Given the description of an element on the screen output the (x, y) to click on. 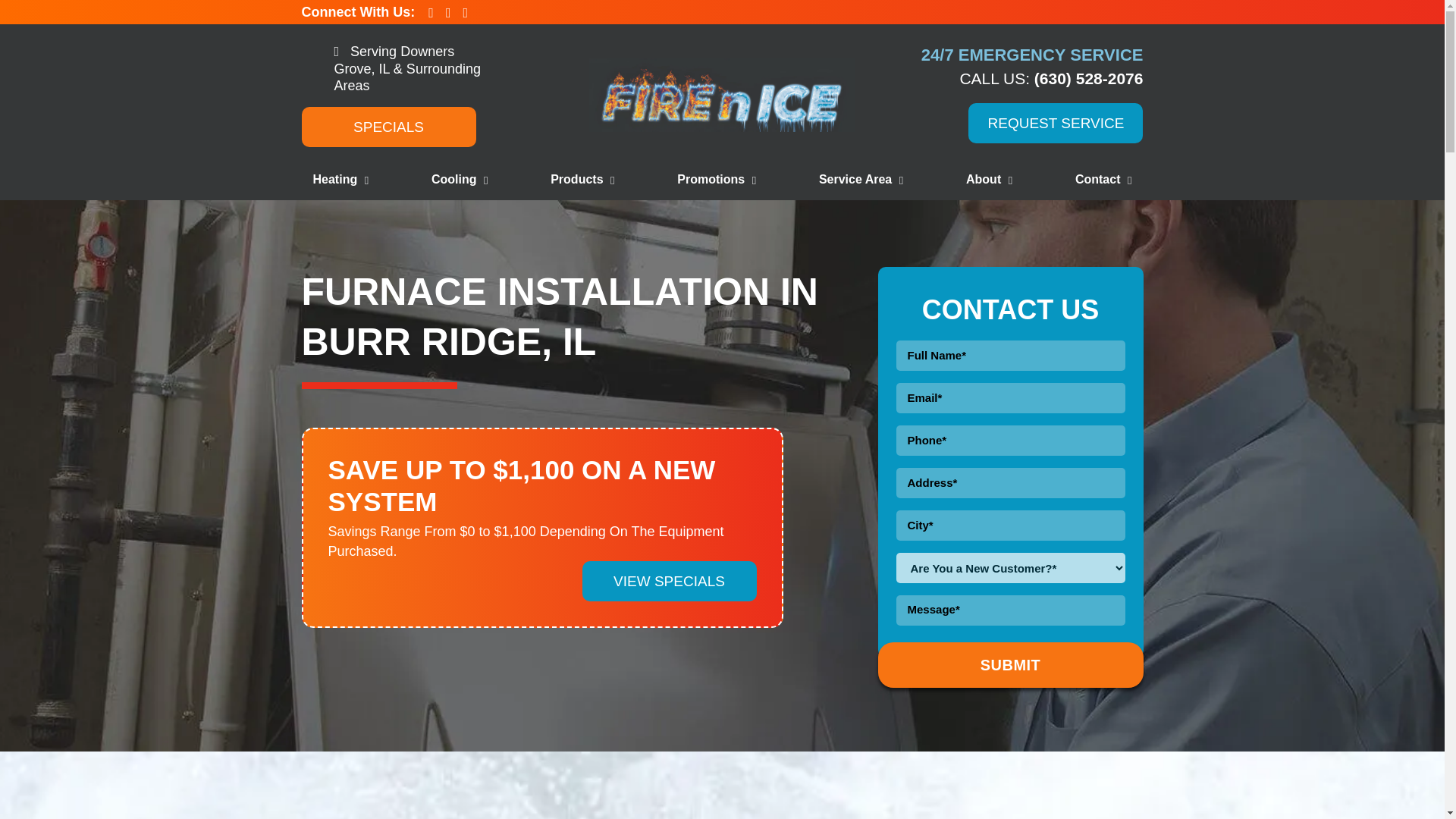
Cooling (459, 178)
Submit (1009, 664)
Service Area (861, 178)
Promotions (716, 178)
About (989, 178)
SPECIALS (388, 126)
Heating (340, 178)
Contact (1103, 178)
Products (582, 178)
REQUEST SERVICE (1055, 123)
